Given the description of an element on the screen output the (x, y) to click on. 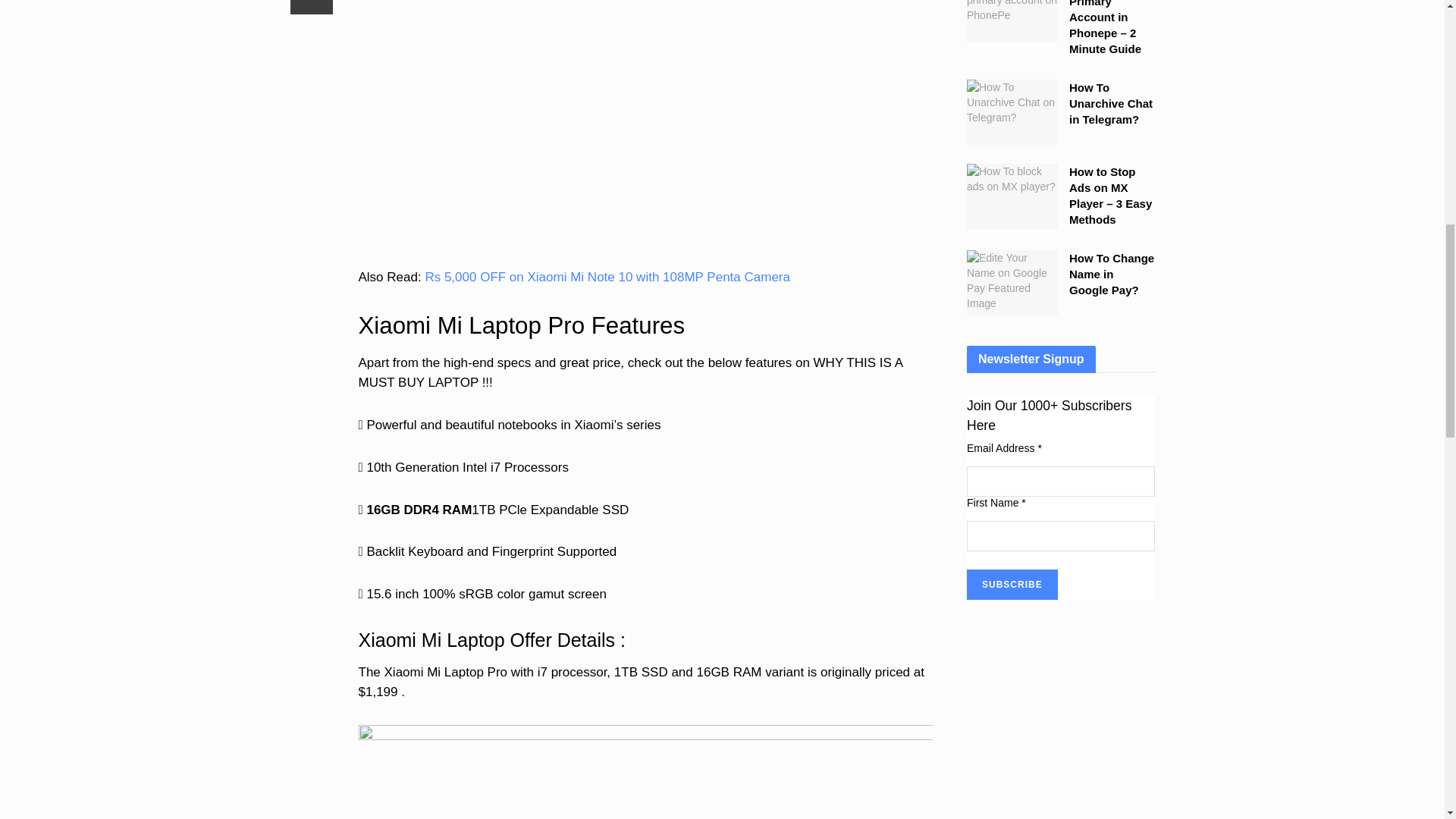
Subscribe (1012, 584)
